Given the description of an element on the screen output the (x, y) to click on. 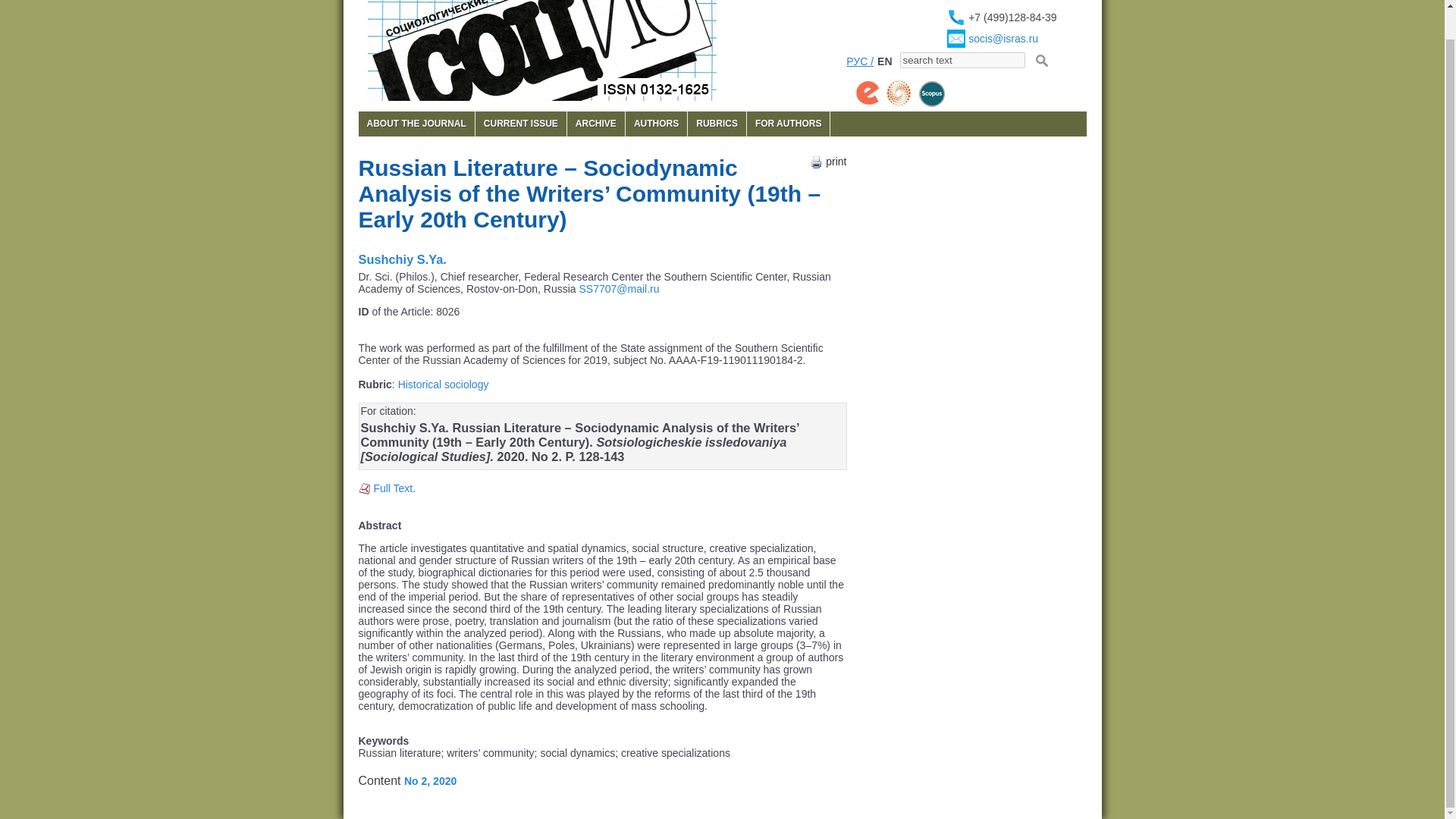
RUBRICS (716, 123)
download free (392, 488)
FOR AUTHORS (787, 123)
ABOUT THE JOURNAL (416, 123)
ARCHIVE (595, 123)
AUTHORS (656, 123)
CURRENT ISSUE (521, 123)
search text (962, 59)
